Given the description of an element on the screen output the (x, y) to click on. 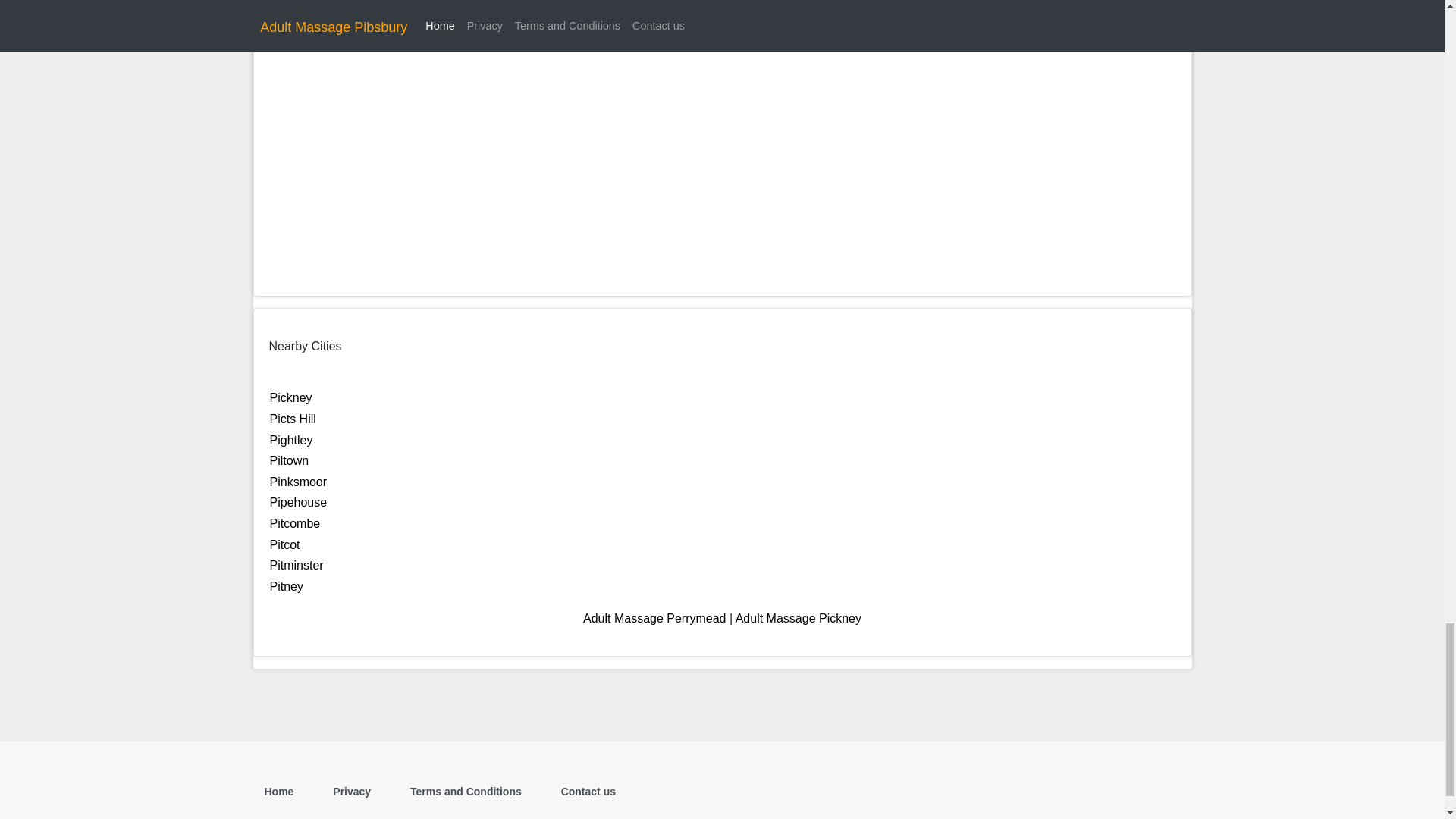
Pightley (291, 440)
Pitney (285, 585)
Pitminster (296, 564)
Piltown (288, 460)
Picts Hill (292, 418)
Pitcombe (294, 522)
Adult Massage Perrymead (654, 617)
Pickney (291, 397)
Pinksmoor (298, 481)
Adult Massage Pickney (798, 617)
Pipehouse (298, 502)
Pitcot (284, 544)
